Given the description of an element on the screen output the (x, y) to click on. 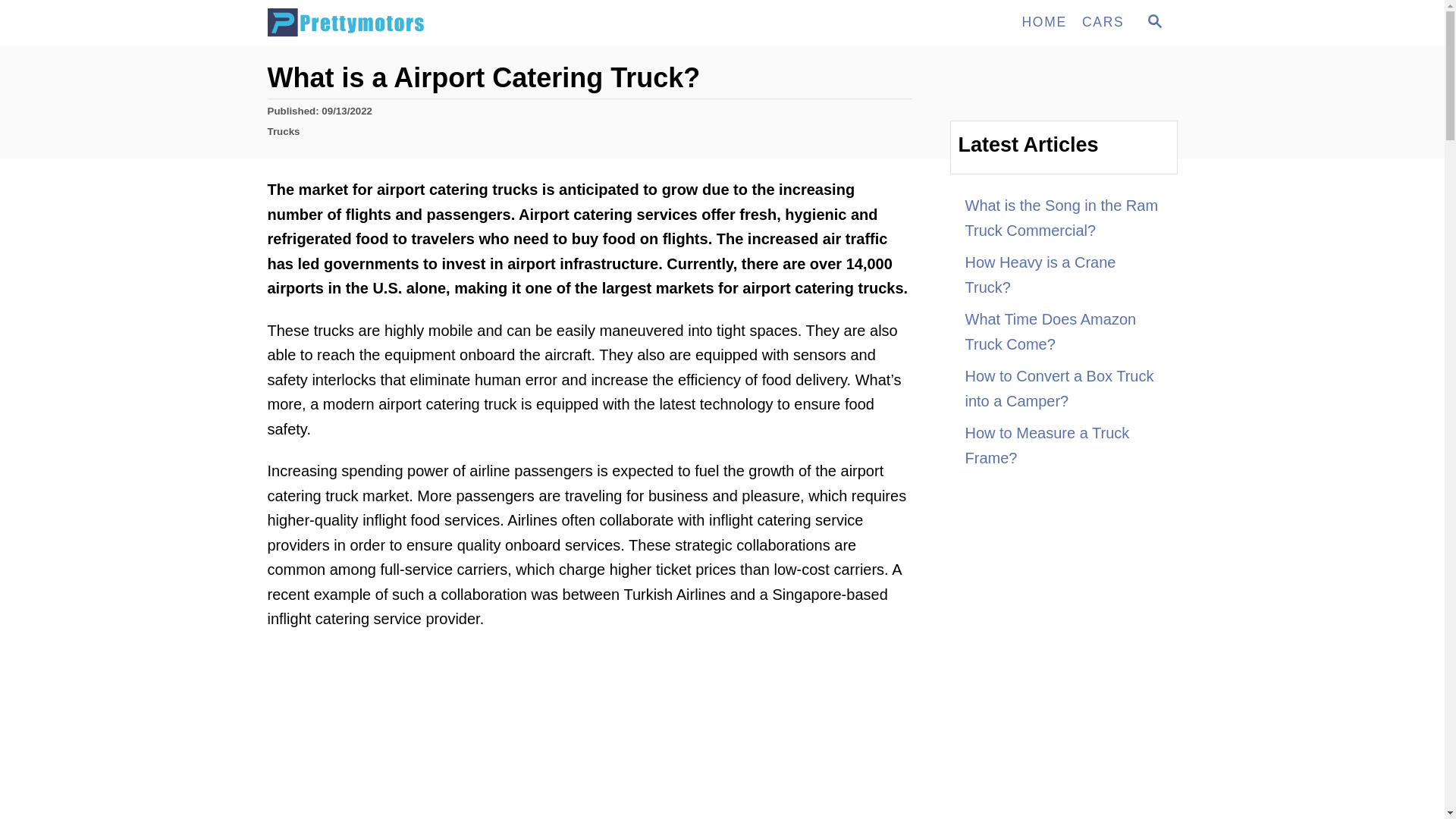
HOME (1043, 22)
Prettymotors (403, 22)
How Heavy is a Crane Truck? (1062, 274)
What is the Song in the Ram Truck Commercial? (1062, 217)
How to Measure a Truck Frame? (1062, 445)
Trucks (282, 131)
CARS (1103, 22)
MAGNIFYING GLASS (1153, 21)
How to Convert a Box Truck into a Camper? (1153, 22)
